Given the description of an element on the screen output the (x, y) to click on. 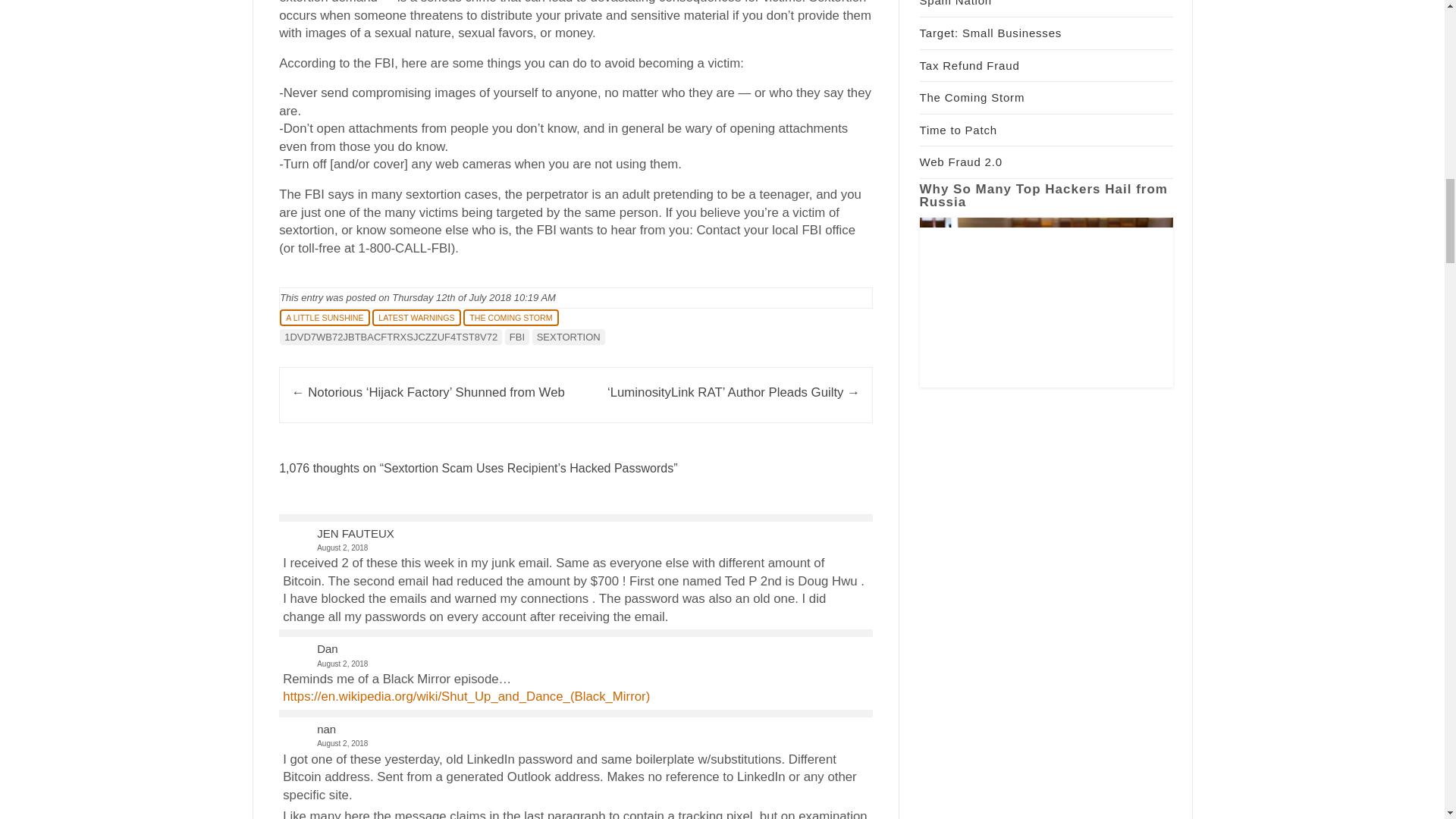
August 2, 2018 (574, 743)
LATEST WARNINGS (416, 317)
1DVD7WB72JBTBACFTRXSJCZZUF4TST8V72 (390, 336)
SEXTORTION (568, 336)
August 2, 2018 (574, 663)
FBI (517, 336)
THE COMING STORM (510, 317)
A LITTLE SUNSHINE (324, 317)
August 2, 2018 (574, 547)
